Given the description of an element on the screen output the (x, y) to click on. 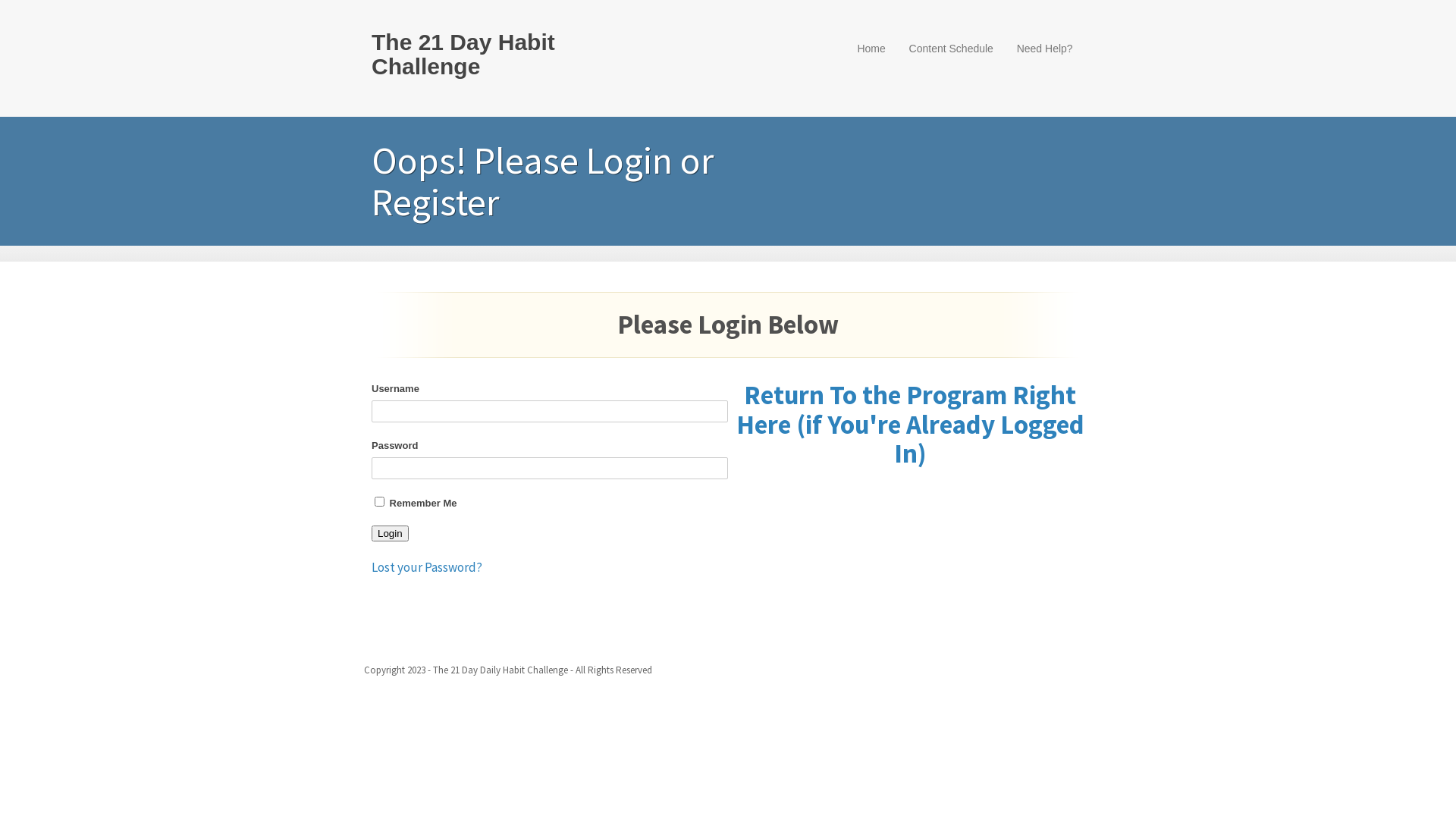
Login Element type: text (389, 533)
Lost your Password? Element type: text (426, 566)
Need Help? Element type: text (1044, 49)
Content Schedule Element type: text (950, 49)
Home Element type: text (871, 49)
